Given the description of an element on the screen output the (x, y) to click on. 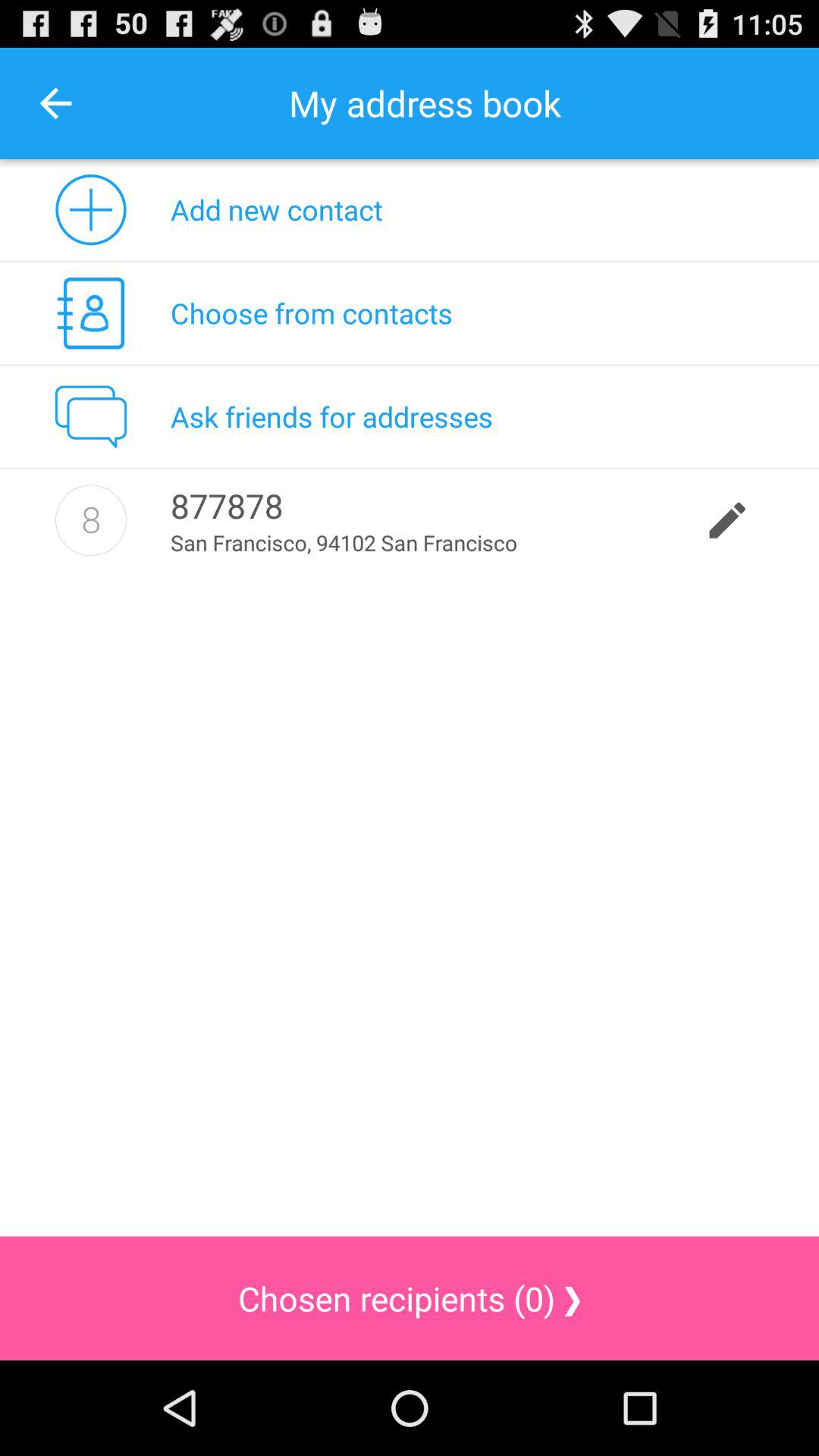
8 (90, 520)
